Given the description of an element on the screen output the (x, y) to click on. 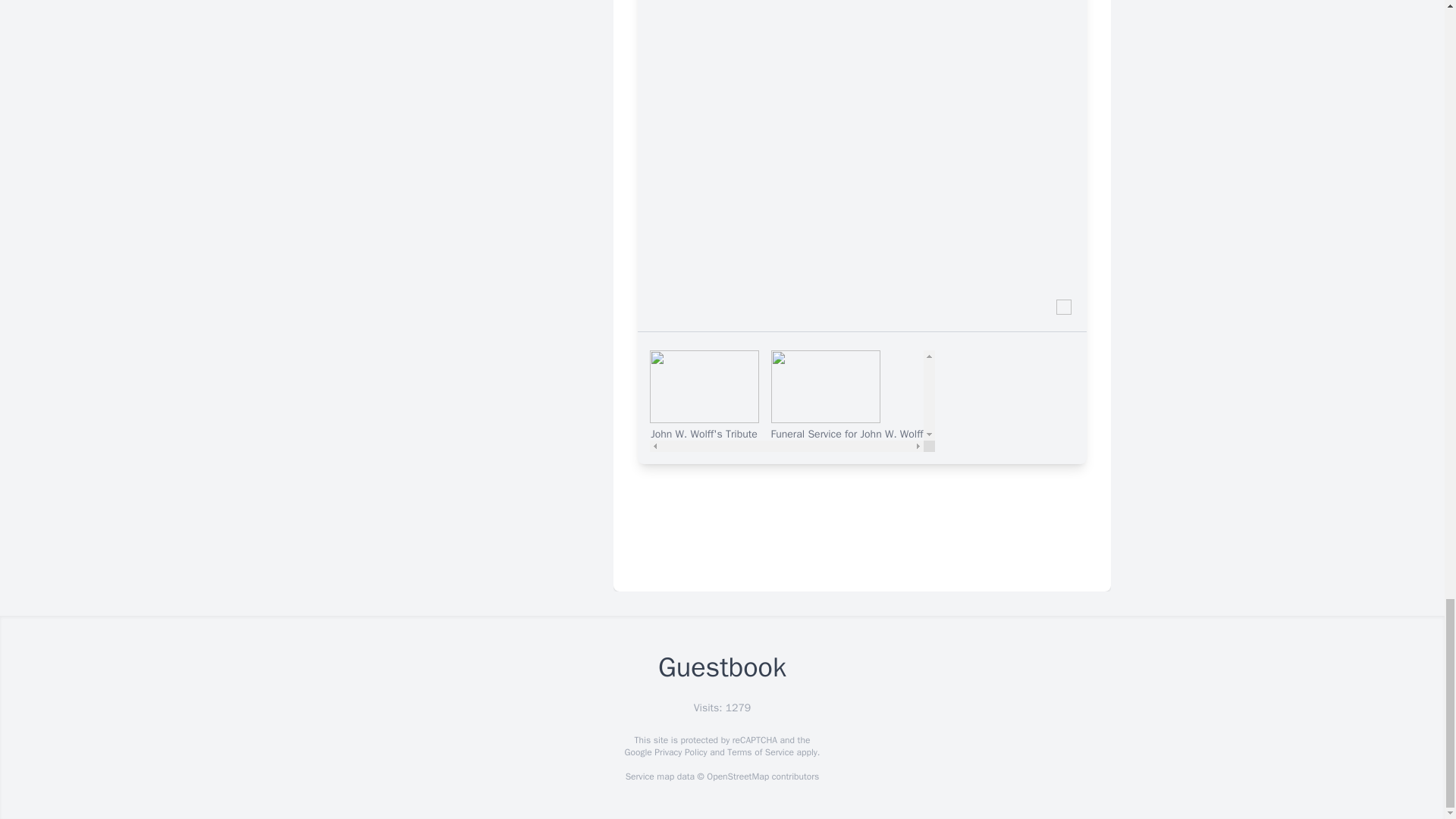
OpenStreetMap (737, 776)
Terms of Service (759, 752)
Privacy Policy (679, 752)
John W. Wolff's Tribute (703, 395)
Funeral Service for John W. Wolff (846, 395)
